Given the description of an element on the screen output the (x, y) to click on. 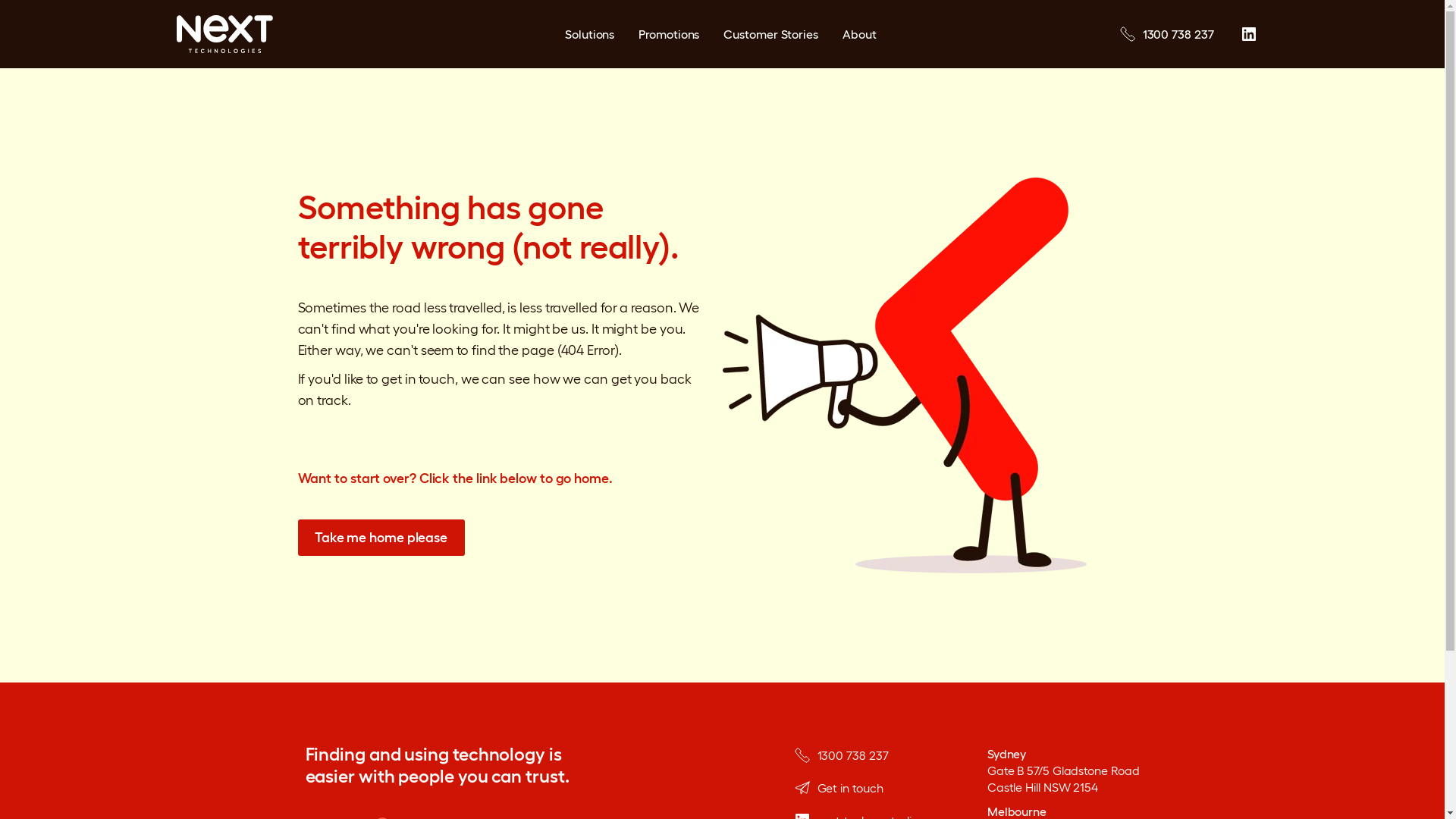
Take me home please Element type: text (380, 536)
Get in touch Element type: text (856, 787)
1300 738 237 Element type: text (1166, 33)
1300 738 237 Element type: text (856, 754)
